Given the description of an element on the screen output the (x, y) to click on. 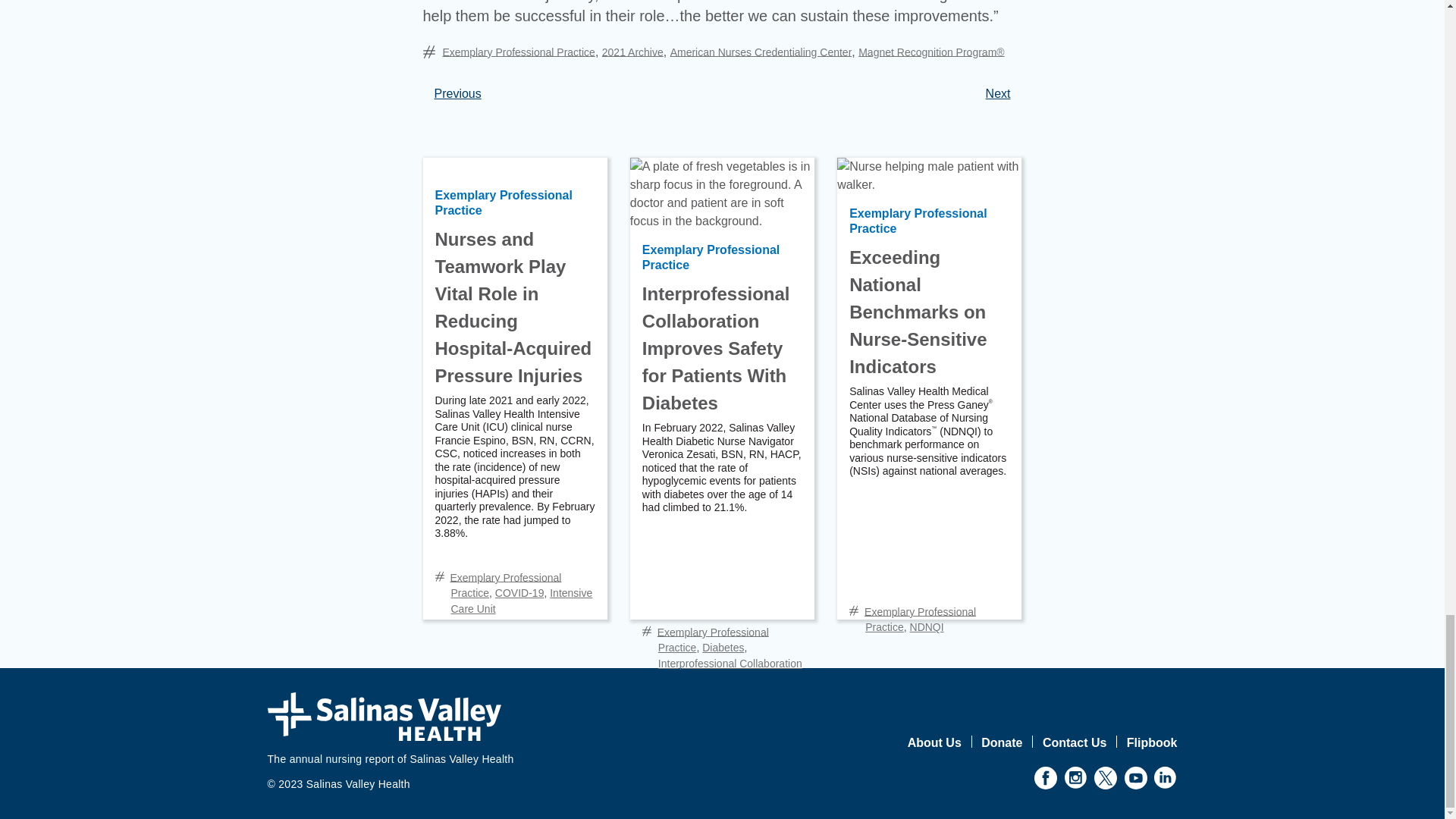
View all articles in Exemplary Professional Practice (504, 584)
Exemplary Professional Practice (503, 203)
COVID-19 (519, 592)
Exemplary Professional Practice (518, 51)
2021 Archive (632, 51)
Previous (456, 92)
View all articles tagged with 2021 Archive (632, 51)
Next (997, 92)
View all articles in Exemplary Professional Practice (518, 51)
